Given the description of an element on the screen output the (x, y) to click on. 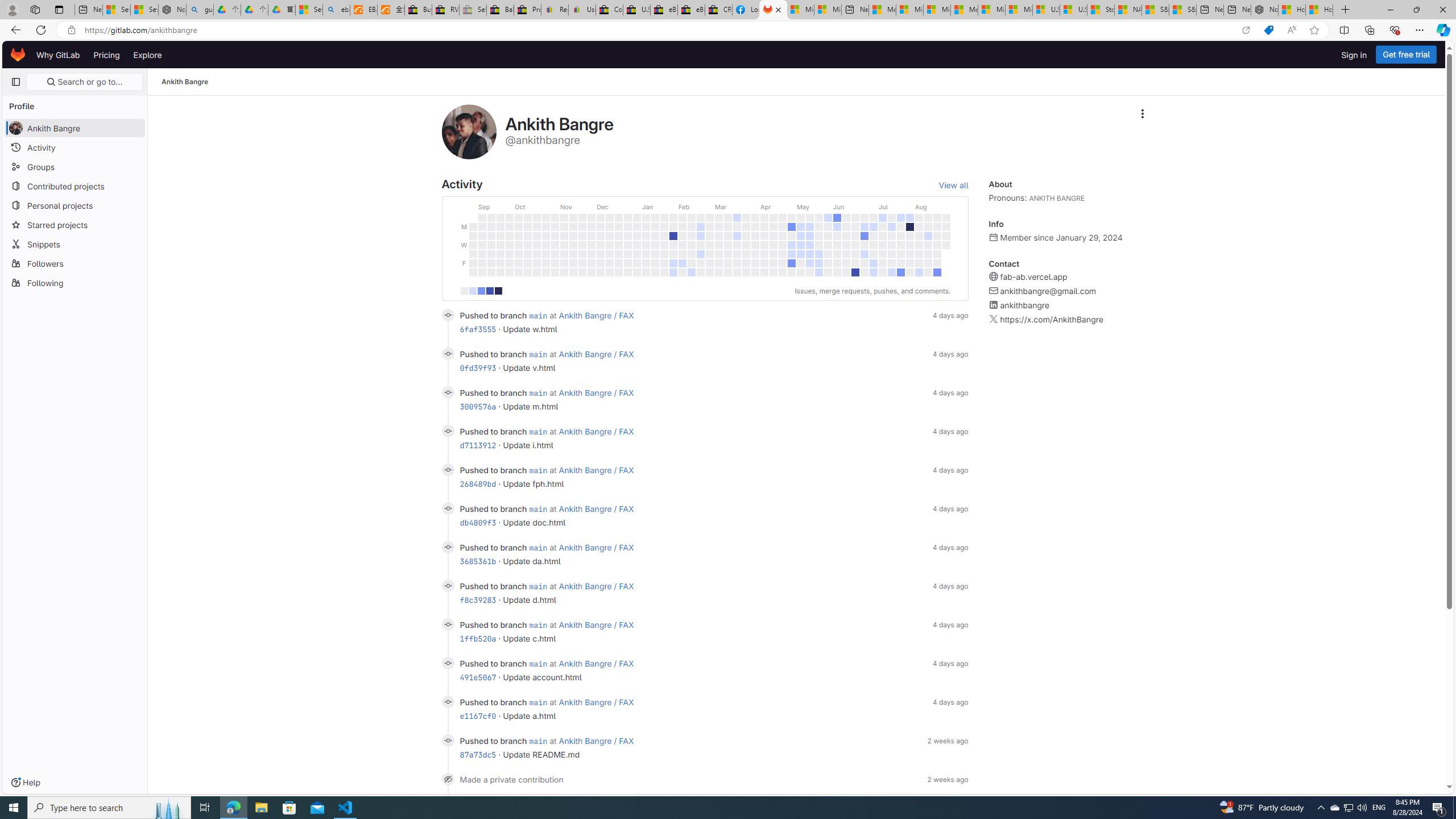
Get free trial (1406, 54)
1ffb520a (478, 638)
Followers (74, 262)
